Given the description of an element on the screen output the (x, y) to click on. 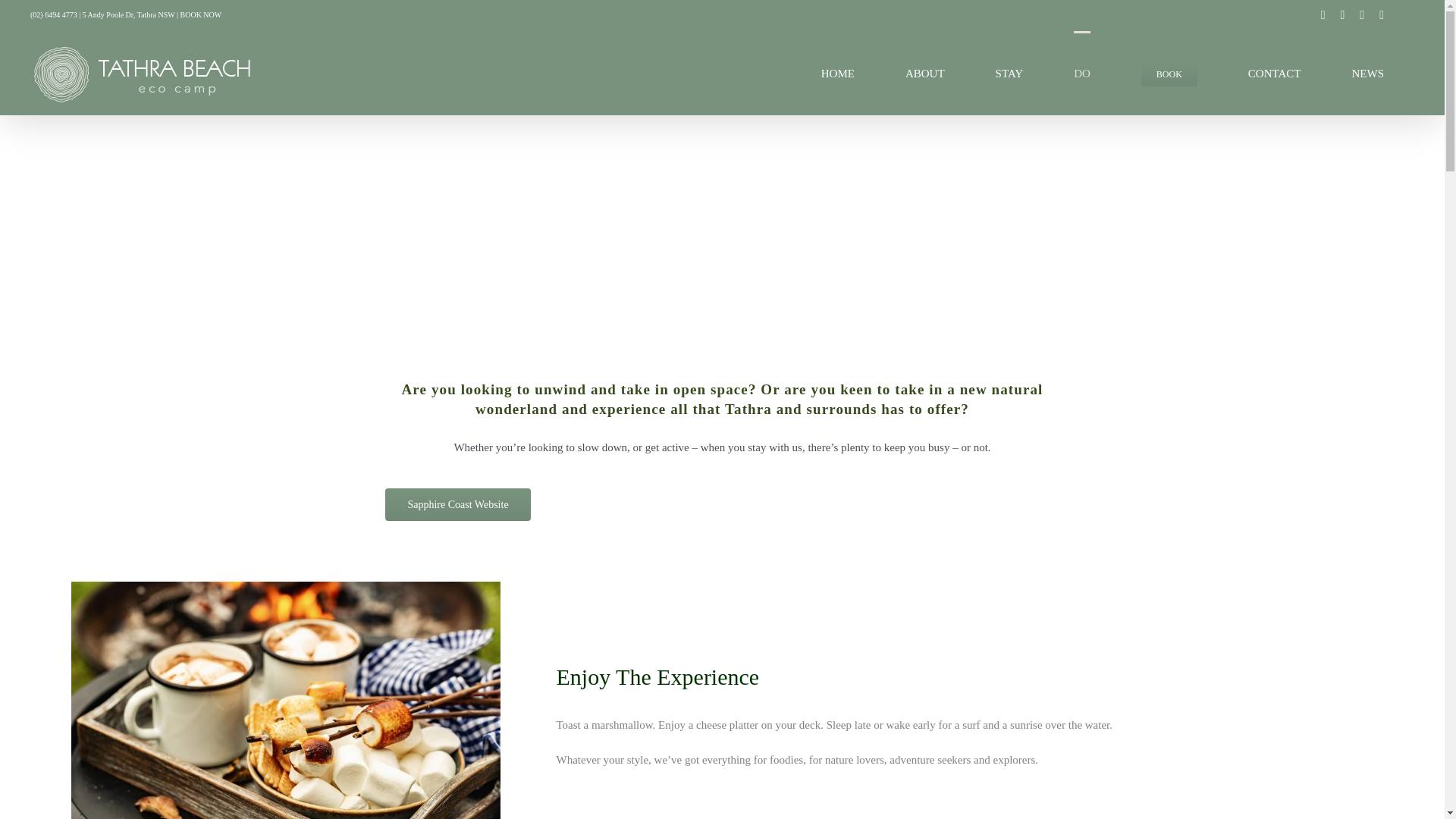
BOOK NOW (201, 14)
Sapphire Coast Website (457, 504)
